Given the description of an element on the screen output the (x, y) to click on. 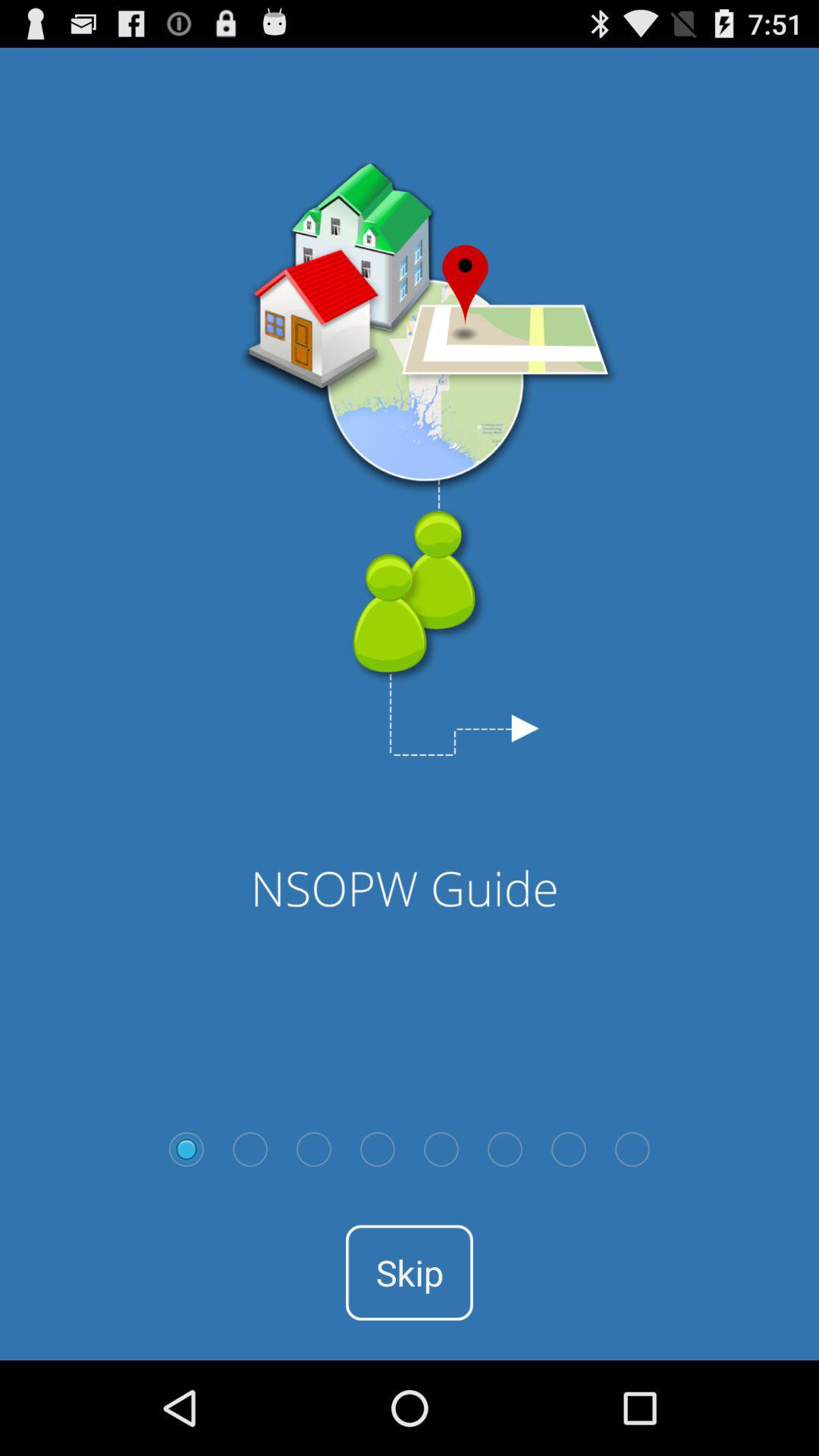
swipe to the skip icon (409, 1272)
